Given the description of an element on the screen output the (x, y) to click on. 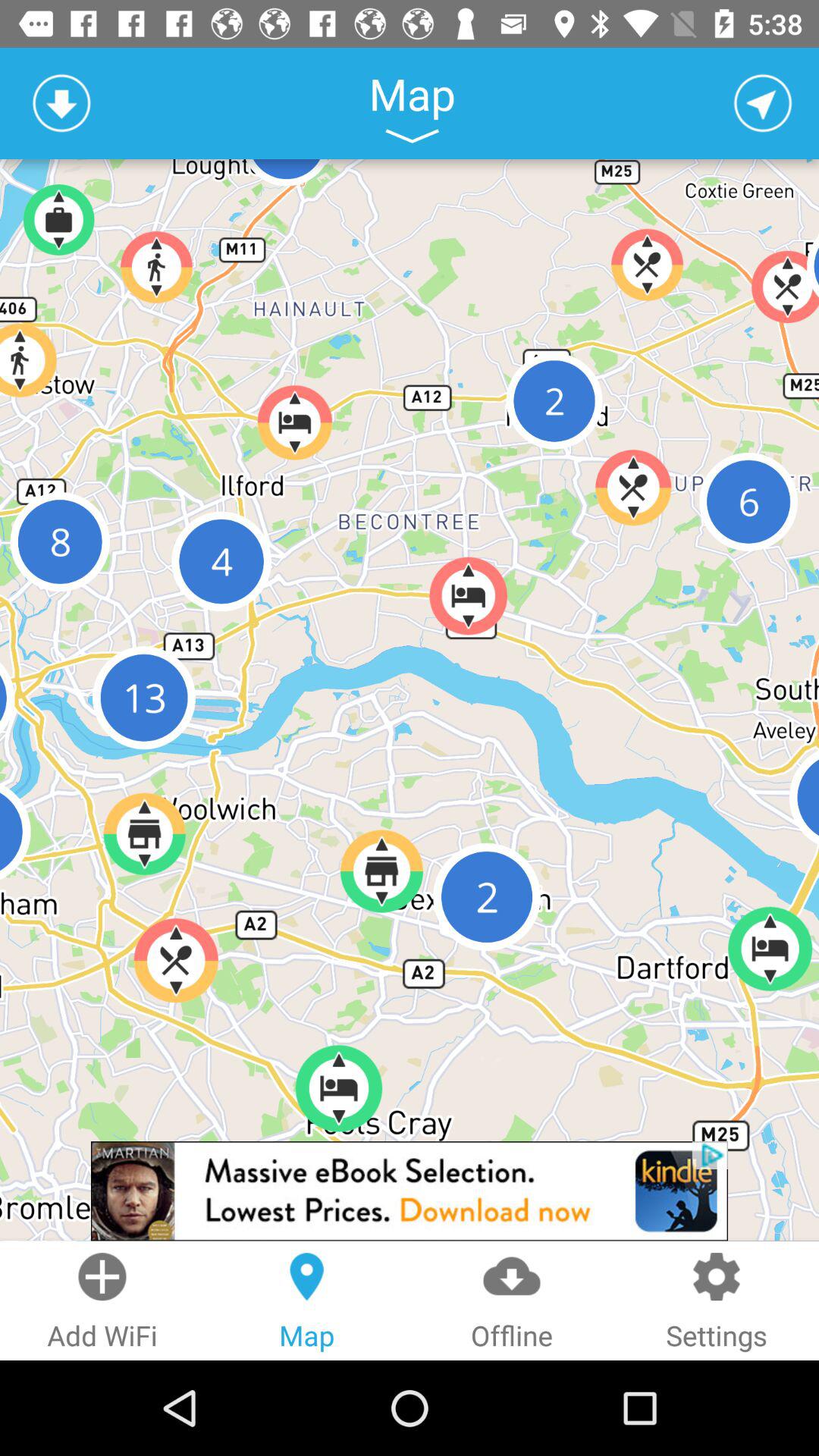
click to download (61, 103)
